Given the description of an element on the screen output the (x, y) to click on. 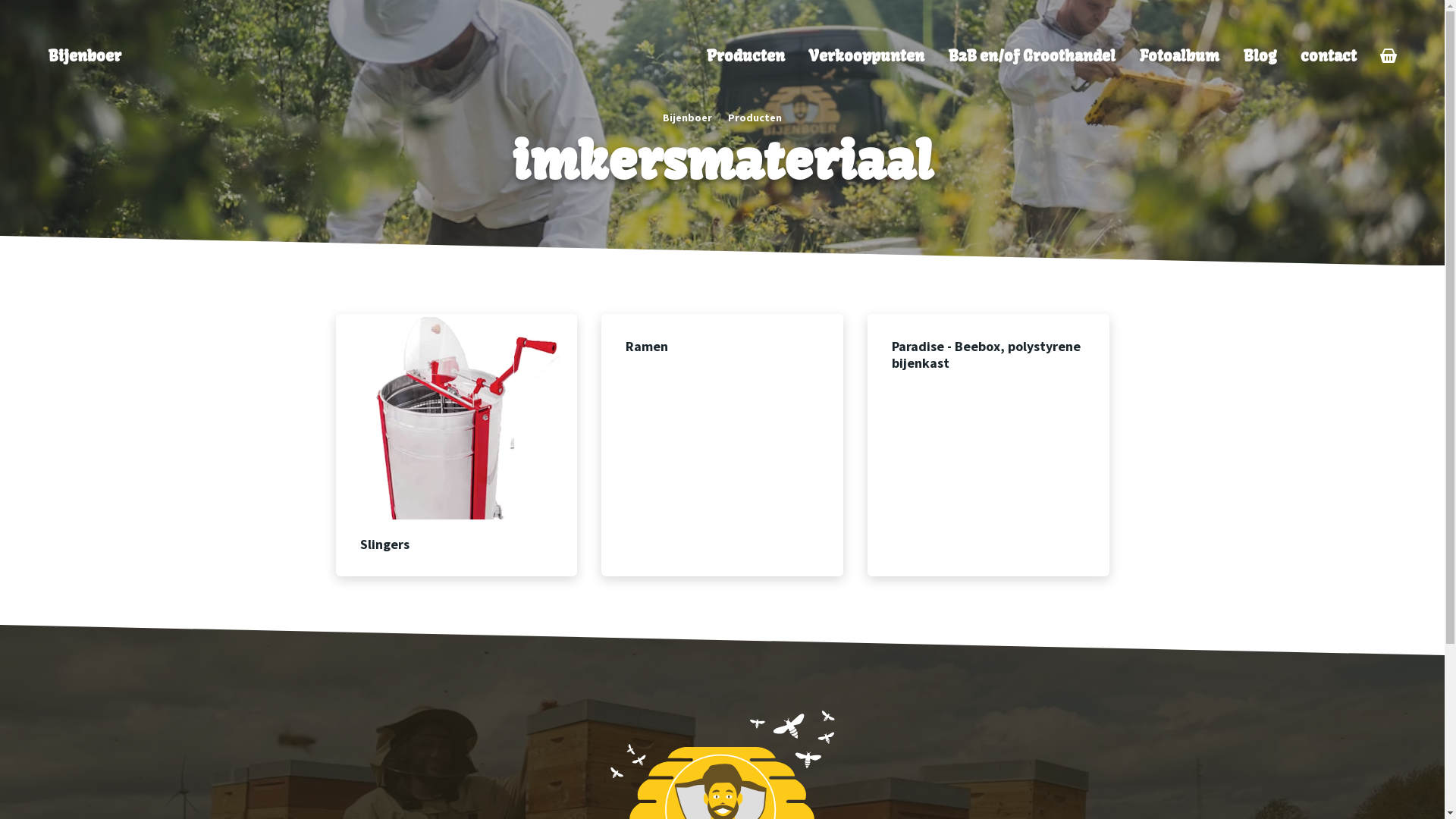
Producten Element type: text (754, 117)
Verkooppunten Element type: text (866, 55)
Bijenboer Element type: text (687, 117)
B2B en/of Groothandel Element type: text (1031, 55)
Bijenboer Element type: text (84, 55)
Ramen Element type: text (722, 444)
Producten Element type: text (745, 55)
Paradise - Beebox, polystyrene bijenkast Element type: text (988, 444)
contact Element type: text (1328, 55)
Slingers Element type: text (456, 444)
Fotoalbum Element type: text (1179, 55)
Blog Element type: text (1259, 55)
